Given the description of an element on the screen output the (x, y) to click on. 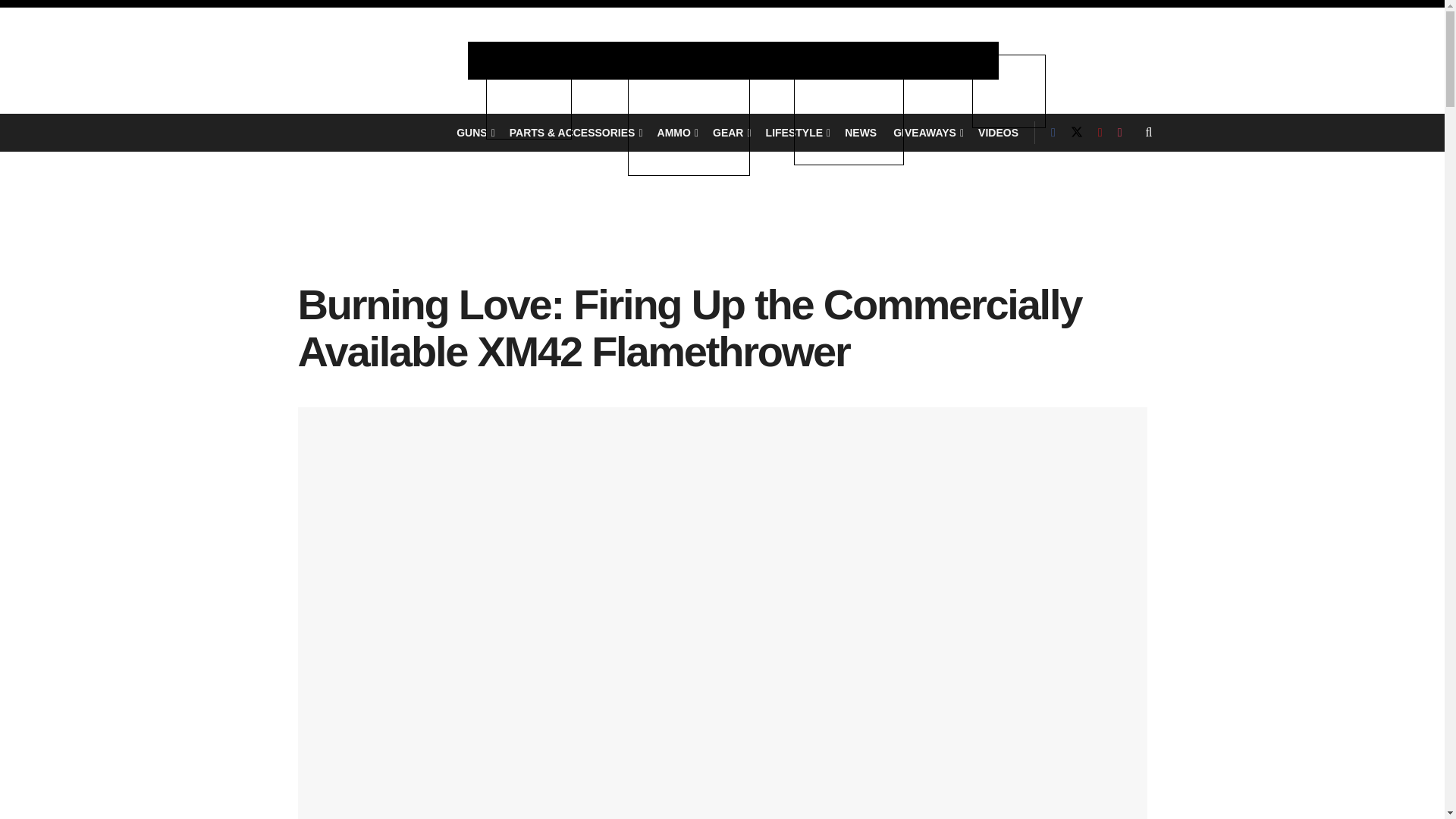
AMMO (676, 132)
GUNS (475, 132)
GEAR (731, 132)
3rd party ad content (722, 232)
